Given the description of an element on the screen output the (x, y) to click on. 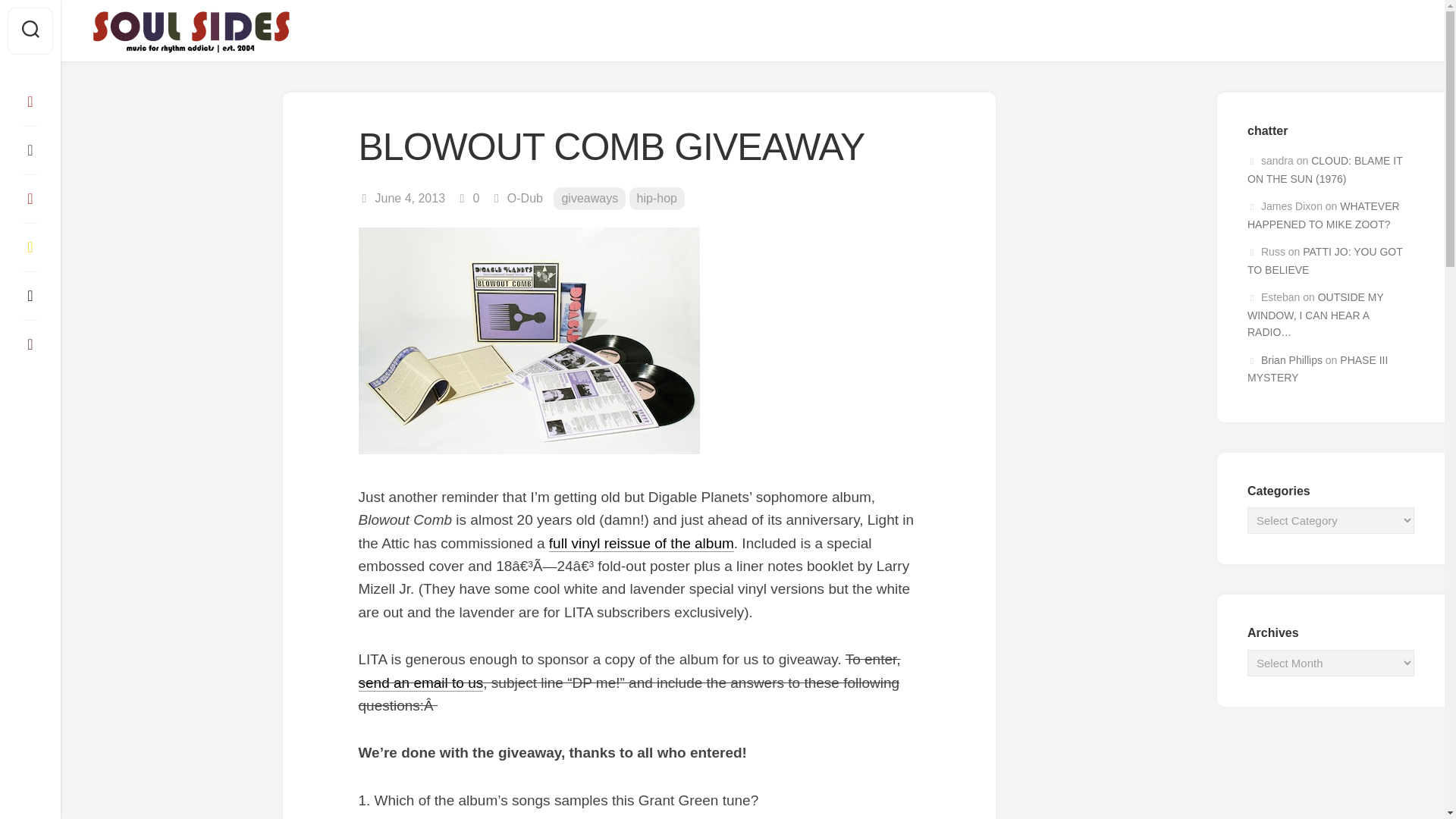
send an email to us (420, 682)
PATTI JO: YOU GOT TO BELIEVE (1324, 260)
giveaways (589, 198)
Posts by O-Dub (524, 197)
O-Dub (524, 197)
hip-hop (656, 198)
full vinyl reissue of the album (640, 543)
WHATEVER HAPPENED TO MIKE ZOOT? (1323, 214)
